Given the description of an element on the screen output the (x, y) to click on. 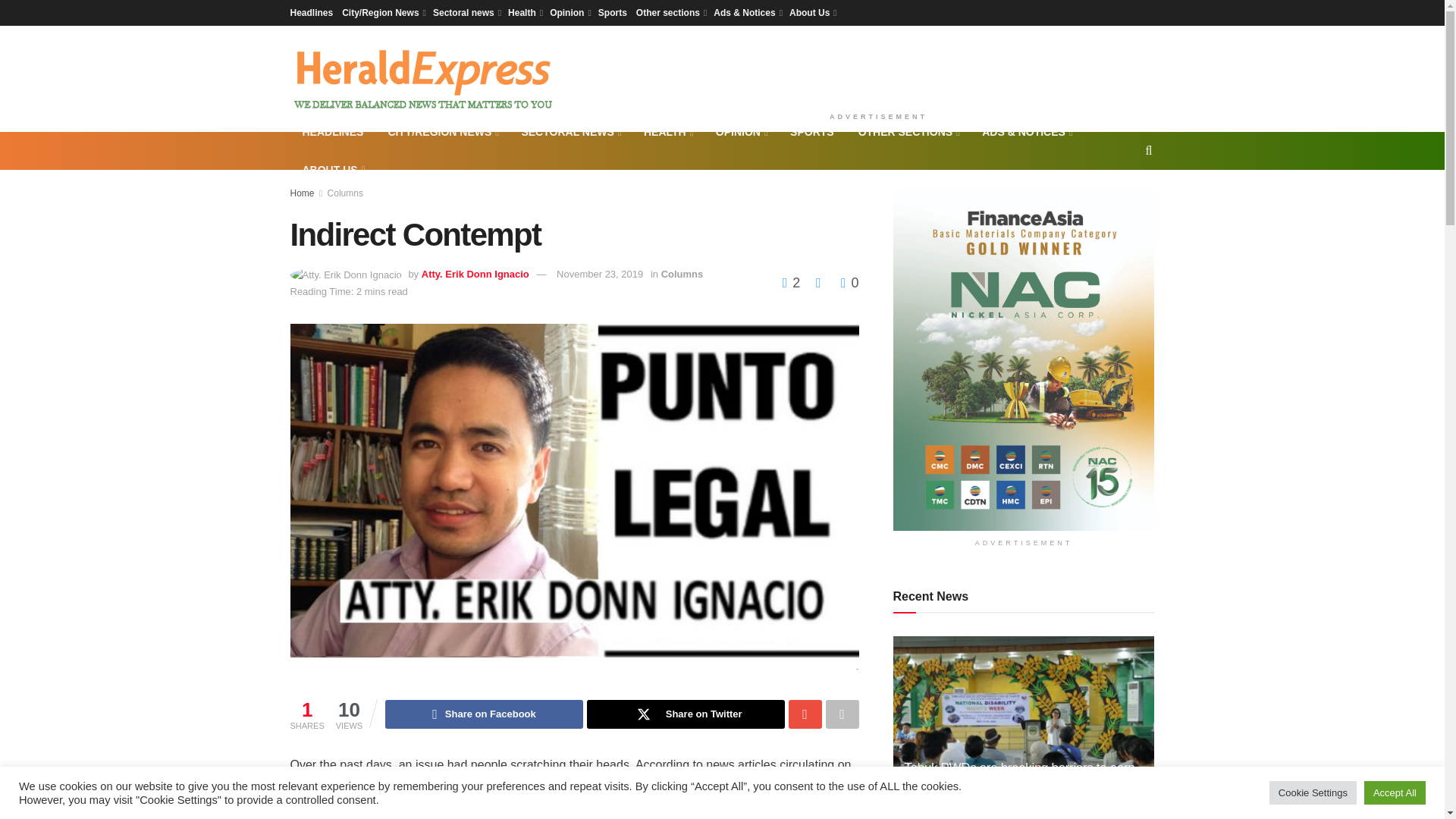
Sectoral news (465, 12)
About Us (811, 12)
Other sections (670, 12)
Sports (612, 12)
Advertisement (878, 65)
Health (524, 12)
Headlines (311, 12)
Opinion (569, 12)
